Given the description of an element on the screen output the (x, y) to click on. 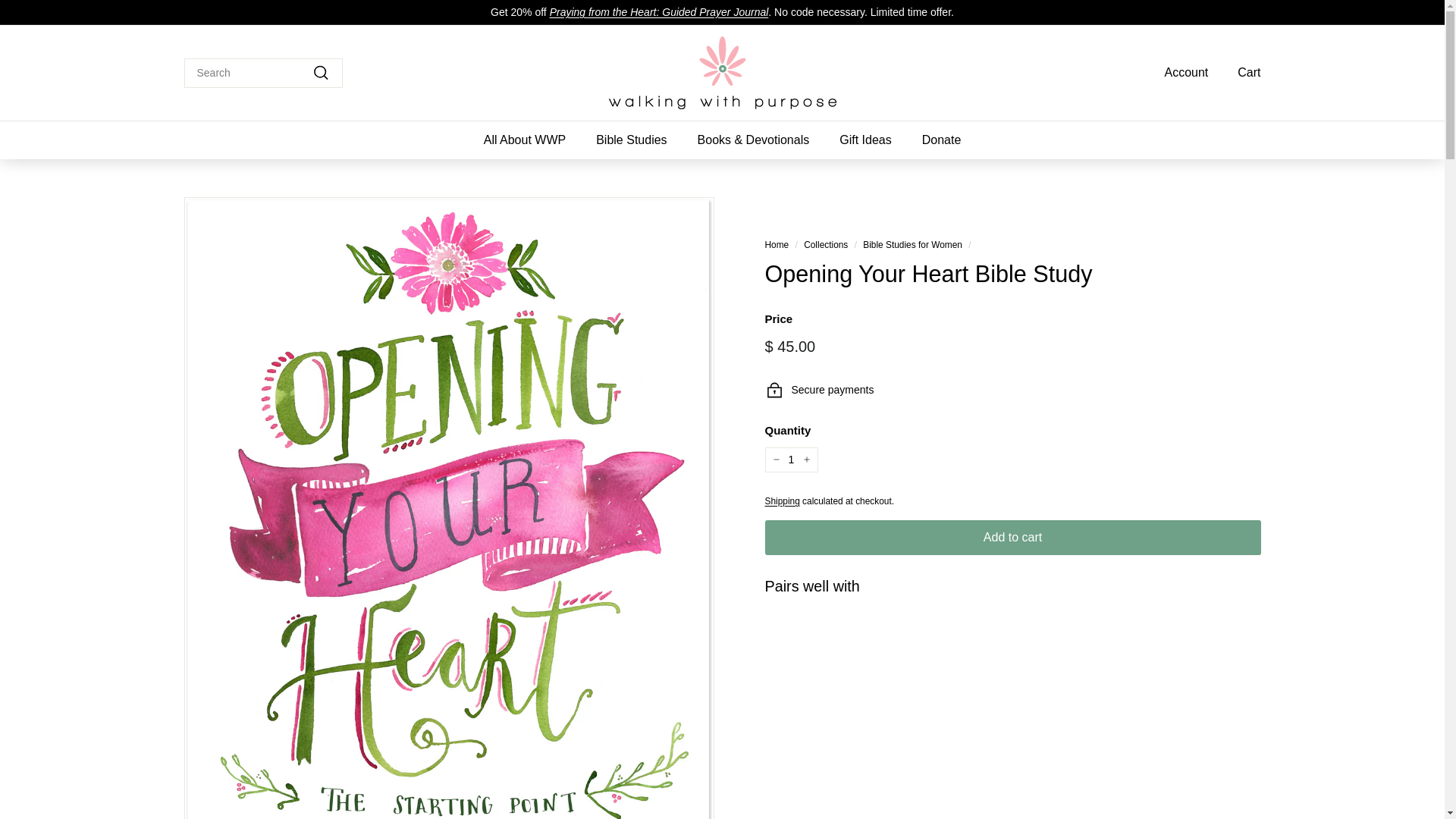
1 (790, 459)
Cart (1243, 72)
Praying from the Heart: Guided Prayer Journal (659, 11)
Praying from the Heart: Guided Prayer Journal (659, 11)
Back to the frontpage (776, 244)
Donate (941, 139)
Account (1179, 72)
Gift Ideas (864, 139)
